Given the description of an element on the screen output the (x, y) to click on. 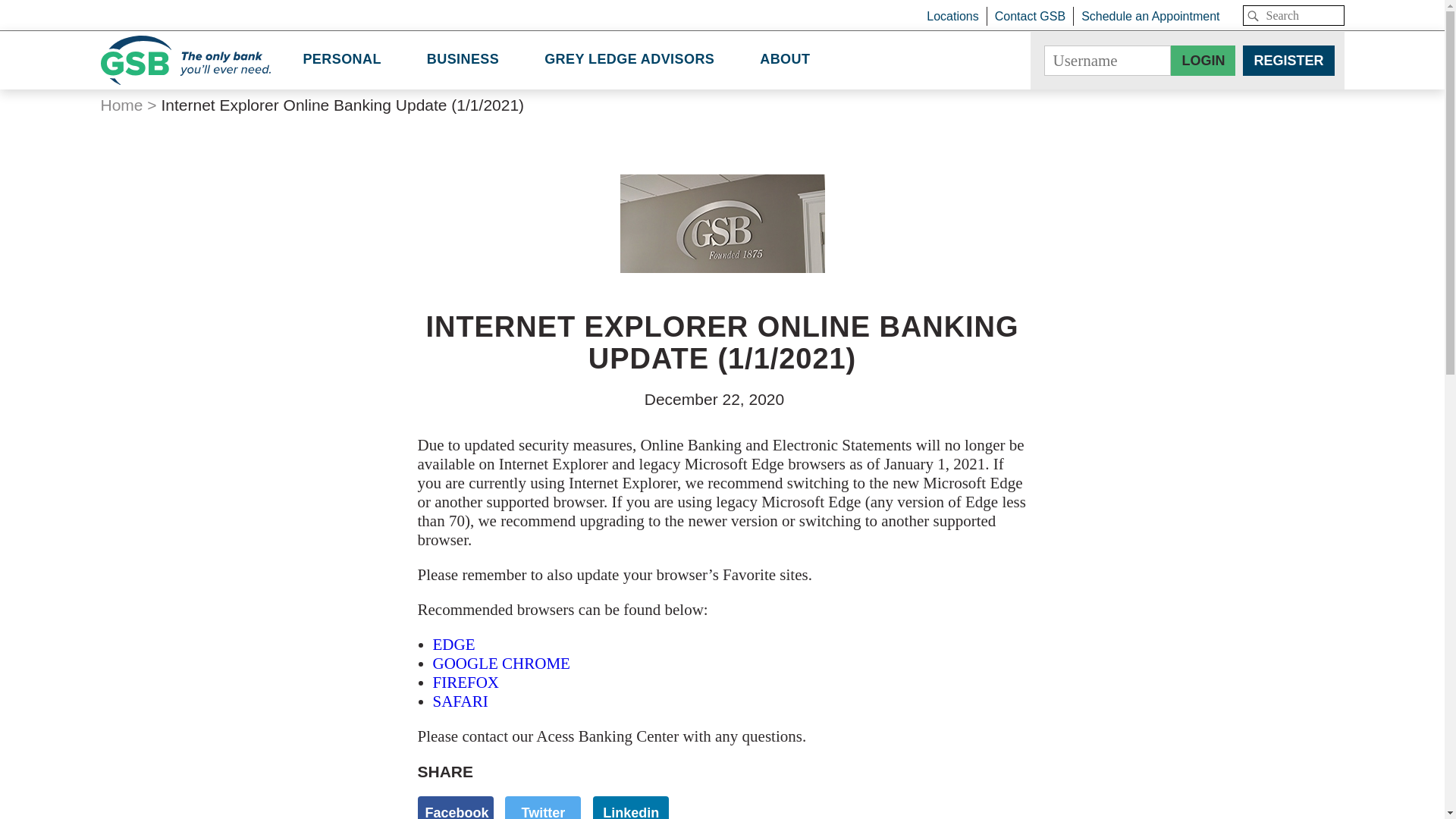
Contact GSB (1034, 15)
Locations (956, 15)
Twitter (542, 807)
Facebook (454, 807)
Linkedin (630, 807)
Schedule an Appointment (1150, 15)
PERSONAL (341, 60)
BUSINESS (462, 60)
